Given the description of an element on the screen output the (x, y) to click on. 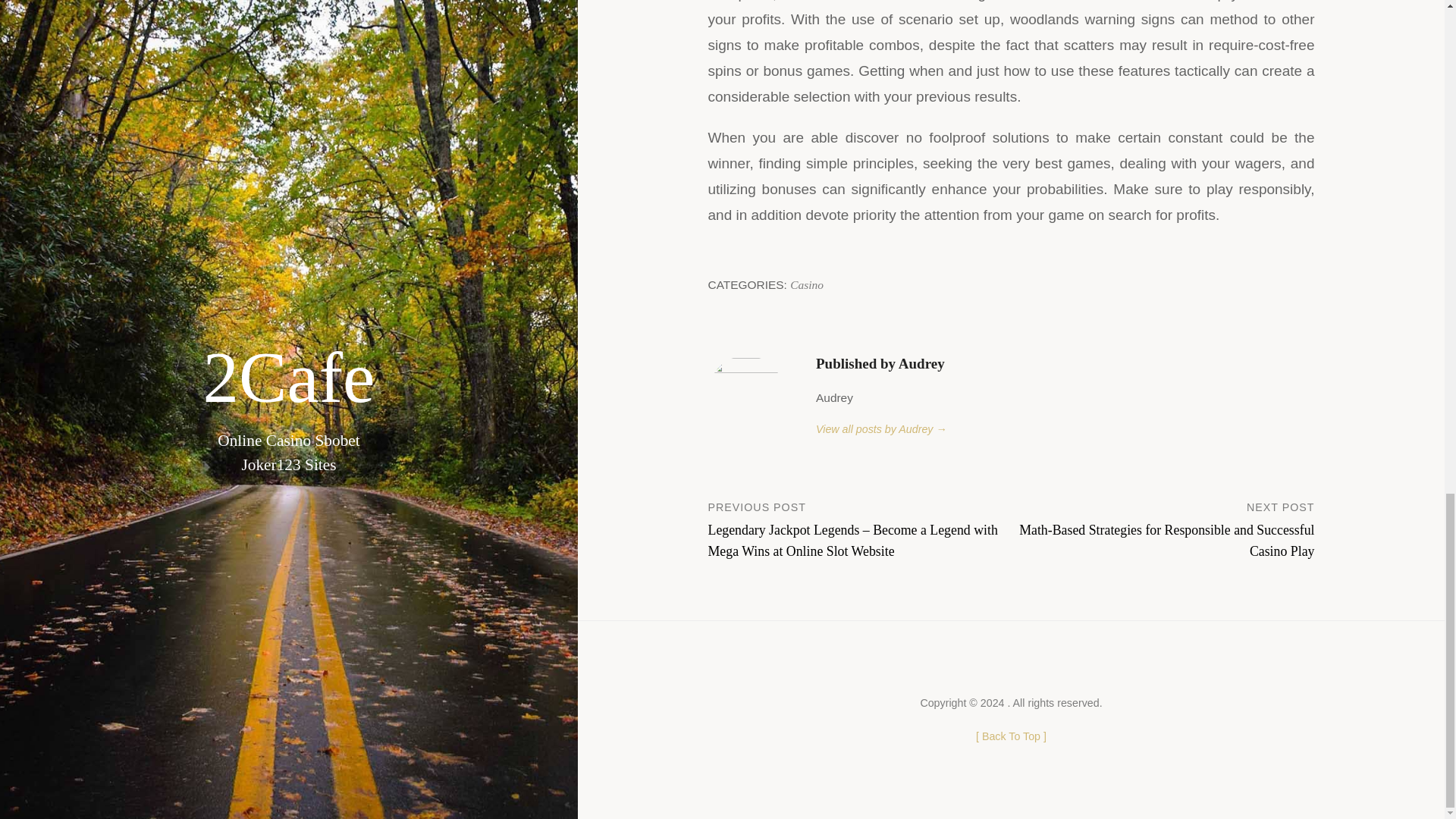
Back To Top (1010, 736)
Casino (807, 284)
